Given the description of an element on the screen output the (x, y) to click on. 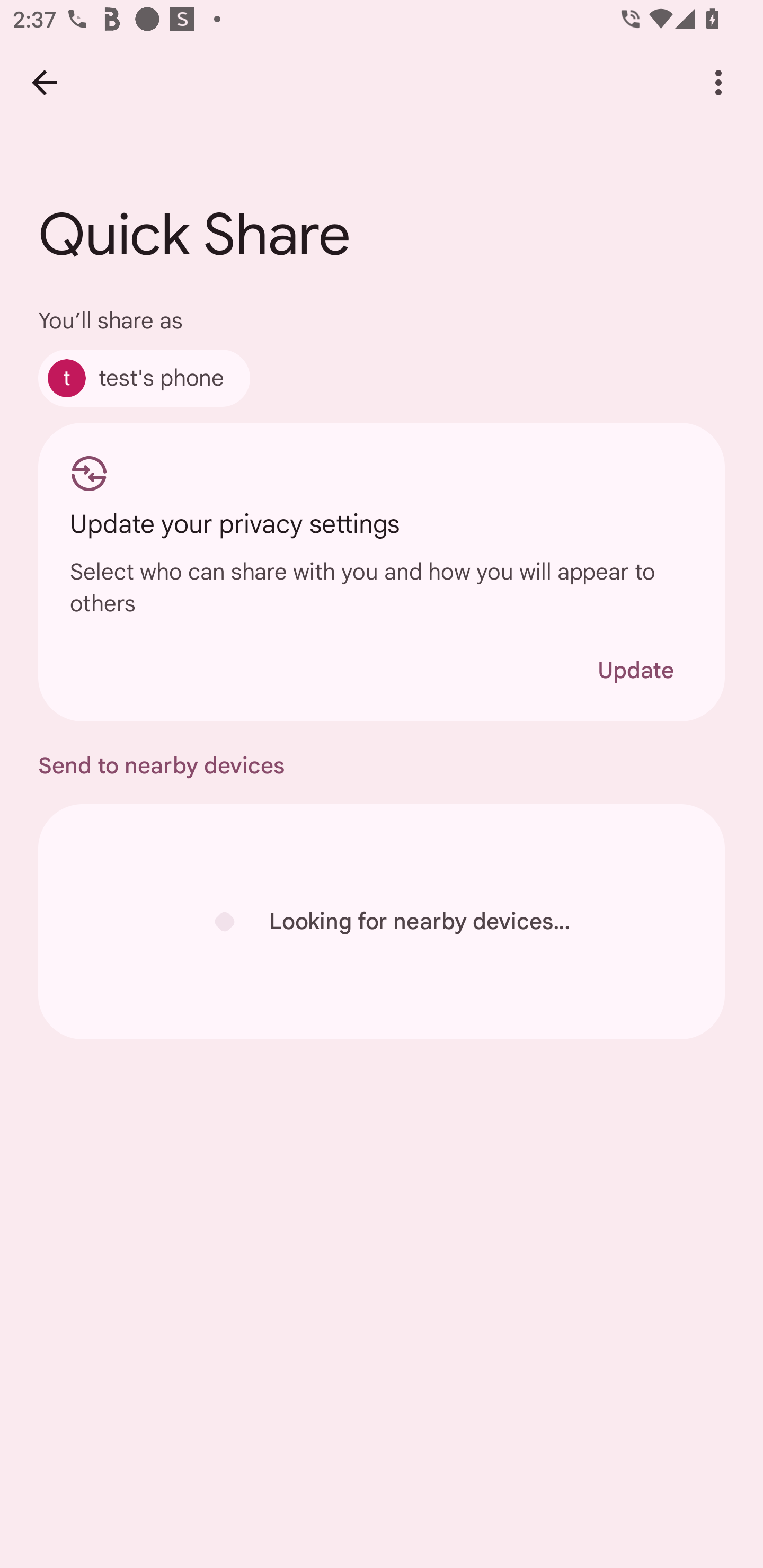
Back (44, 81)
More (718, 81)
test's phone (144, 378)
Update (635, 669)
